Given the description of an element on the screen output the (x, y) to click on. 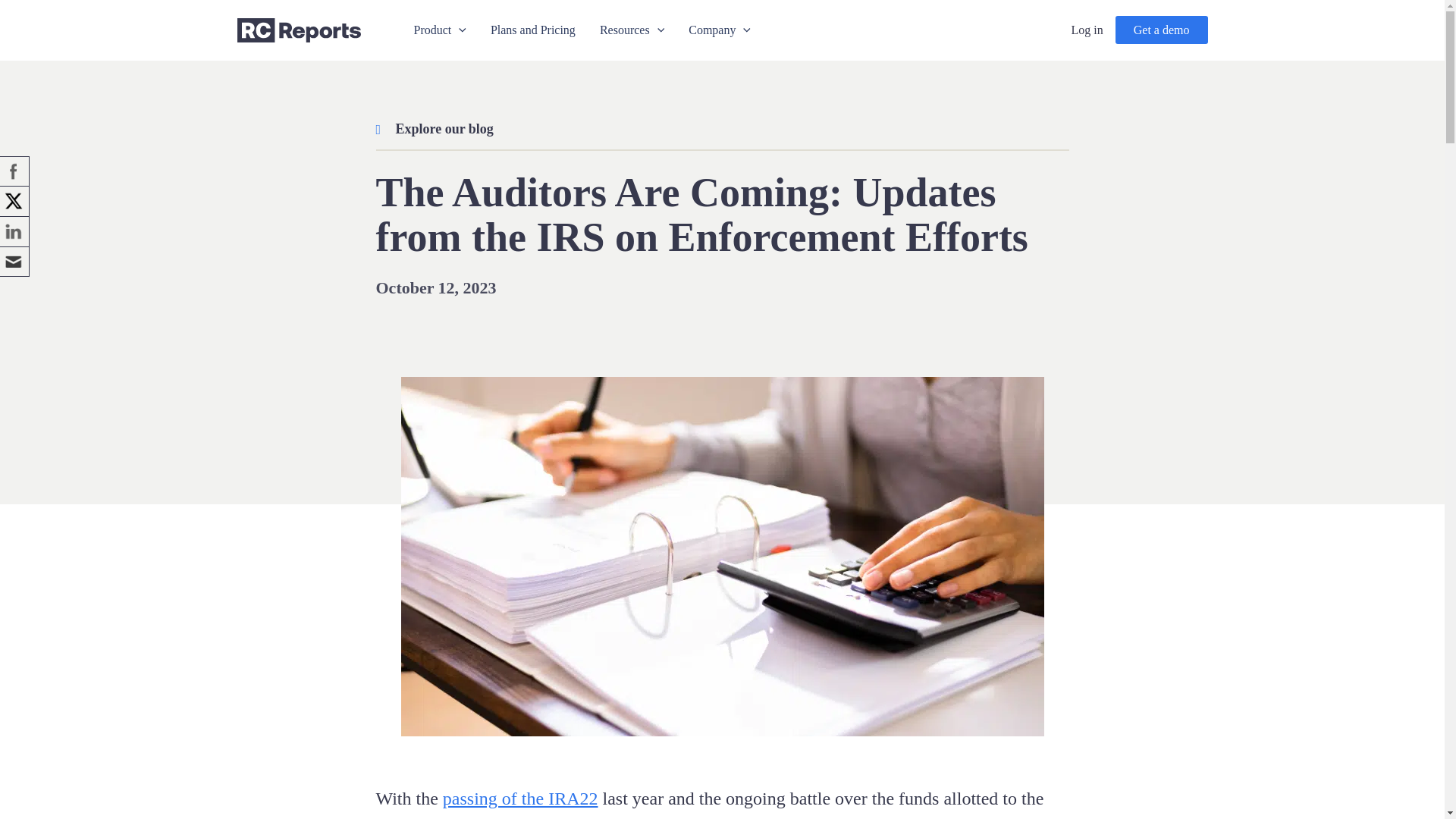
Product (440, 30)
Log in (1087, 29)
Twitter (14, 200)
Company (719, 30)
Facebook (14, 171)
LiveChat chat widget (1401, 787)
Resources (632, 30)
LinkedIn (14, 231)
Follow by Email (14, 261)
Get a demo (1161, 29)
Plans and Pricing (533, 30)
